Given the description of an element on the screen output the (x, y) to click on. 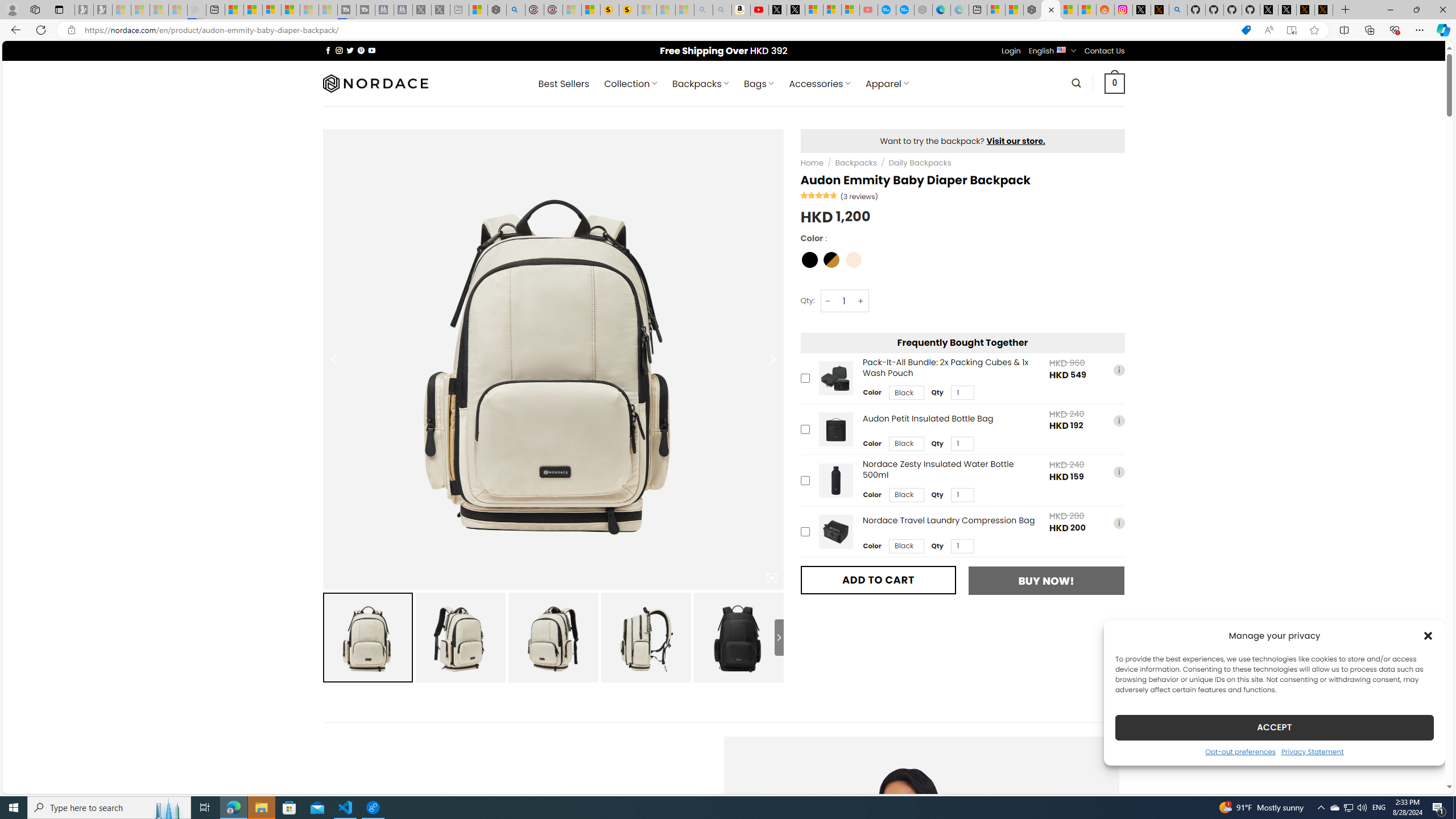
Visit our store. (1015, 140)
The most popular Google 'how to' searches (904, 9)
 0  (1115, 83)
GitHub (@github) / X (1287, 9)
